Given the description of an element on the screen output the (x, y) to click on. 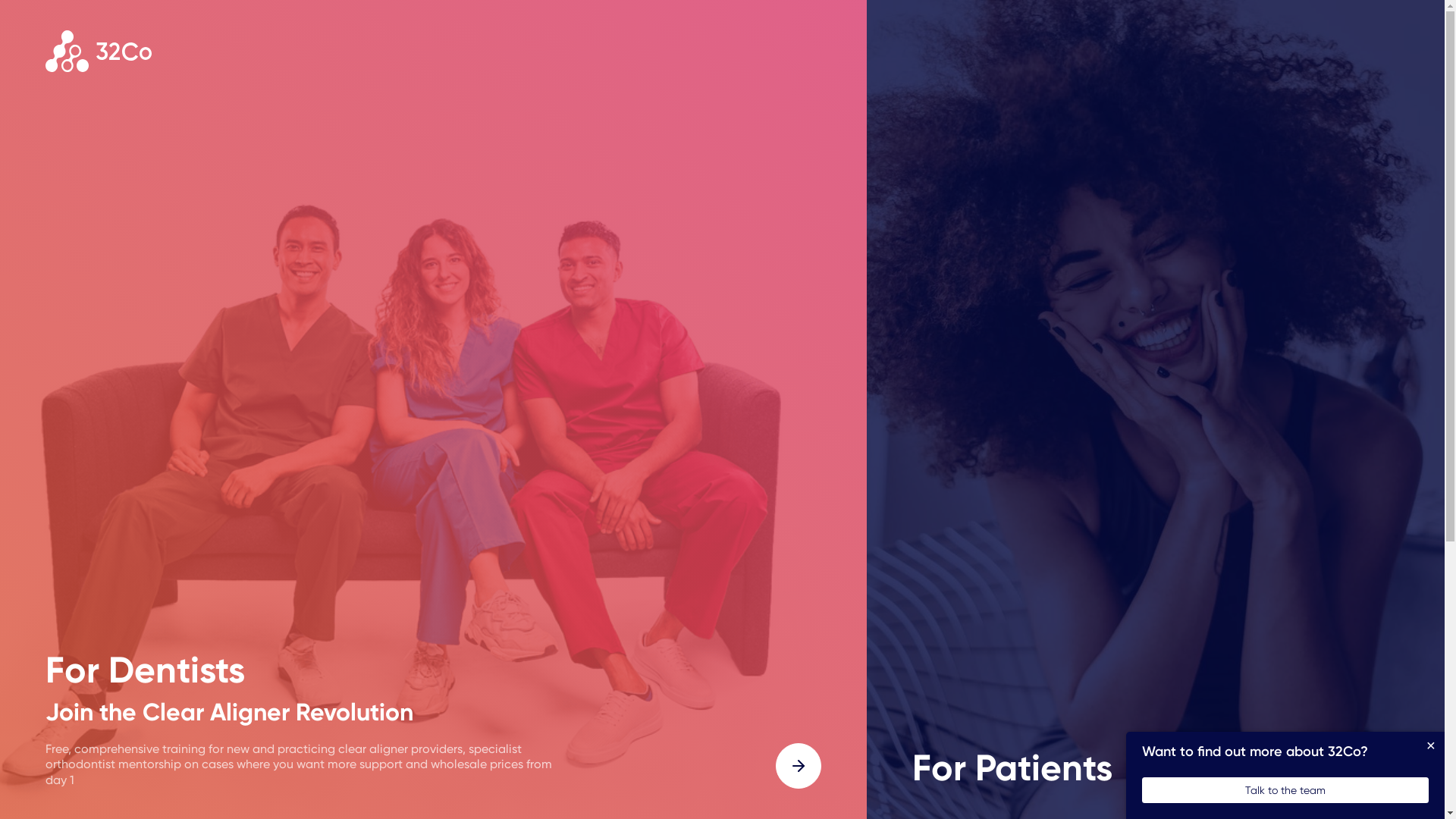
Talk to the team Element type: text (1285, 790)
